Given the description of an element on the screen output the (x, y) to click on. 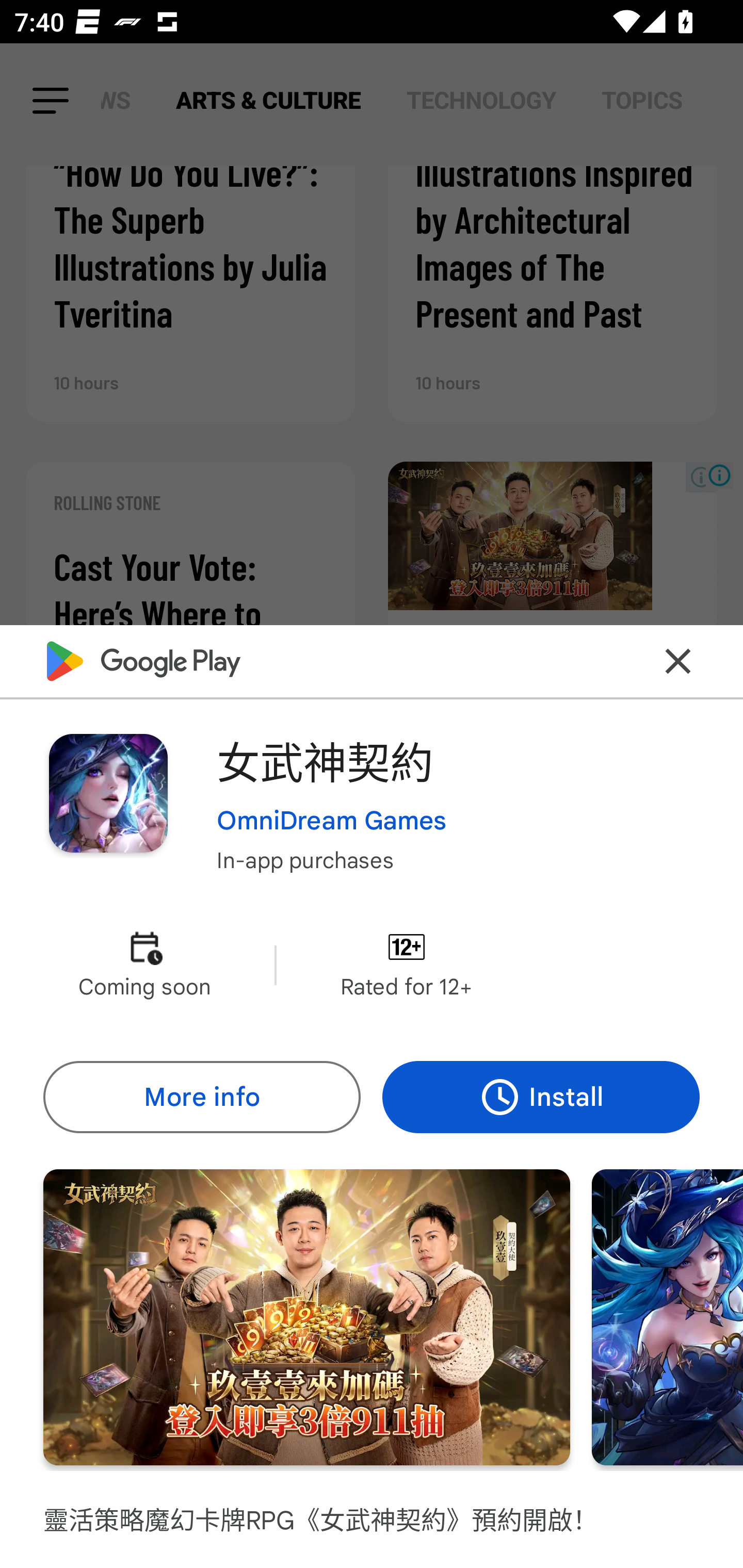
Close (677, 661)
Image of app or game icon for 女武神契約 (108, 792)
OmniDream Games (331, 820)
More info (201, 1097)
Install (540, 1097)
Screenshot "1" of "5" (306, 1317)
